Given the description of an element on the screen output the (x, y) to click on. 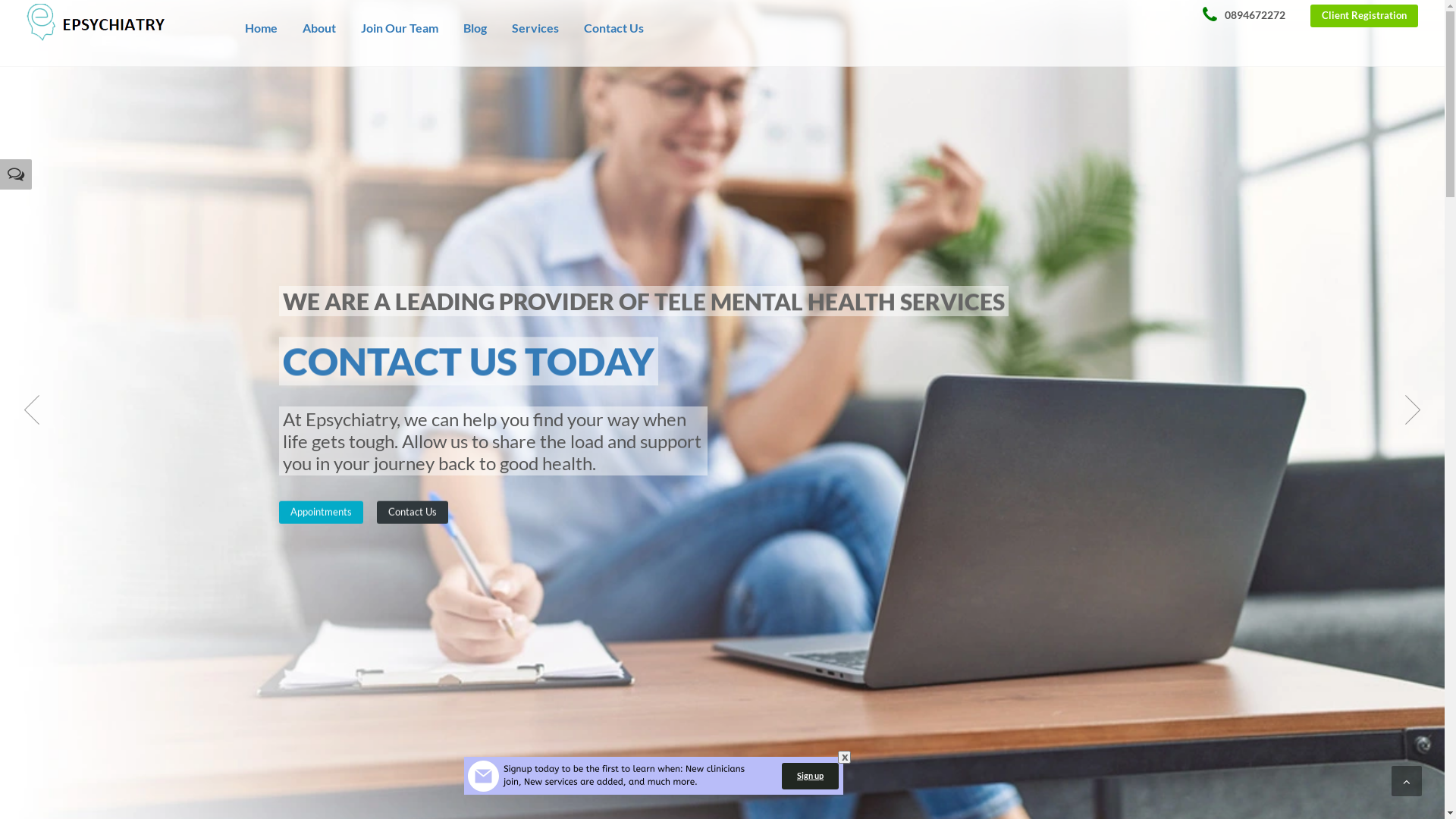
About Element type: text (319, 42)
Blog Element type: text (474, 42)
Contact Us Element type: text (411, 511)
Client Registration Element type: text (1364, 15)
Appointments Element type: text (321, 511)
x Element type: text (843, 756)
Contact Us Element type: text (613, 42)
Join Our Team Element type: text (399, 42)
Services Element type: text (535, 42)
Home Element type: text (260, 42)
0894672272 Element type: text (1254, 14)
Sign up Element type: text (809, 775)
